Given the description of an element on the screen output the (x, y) to click on. 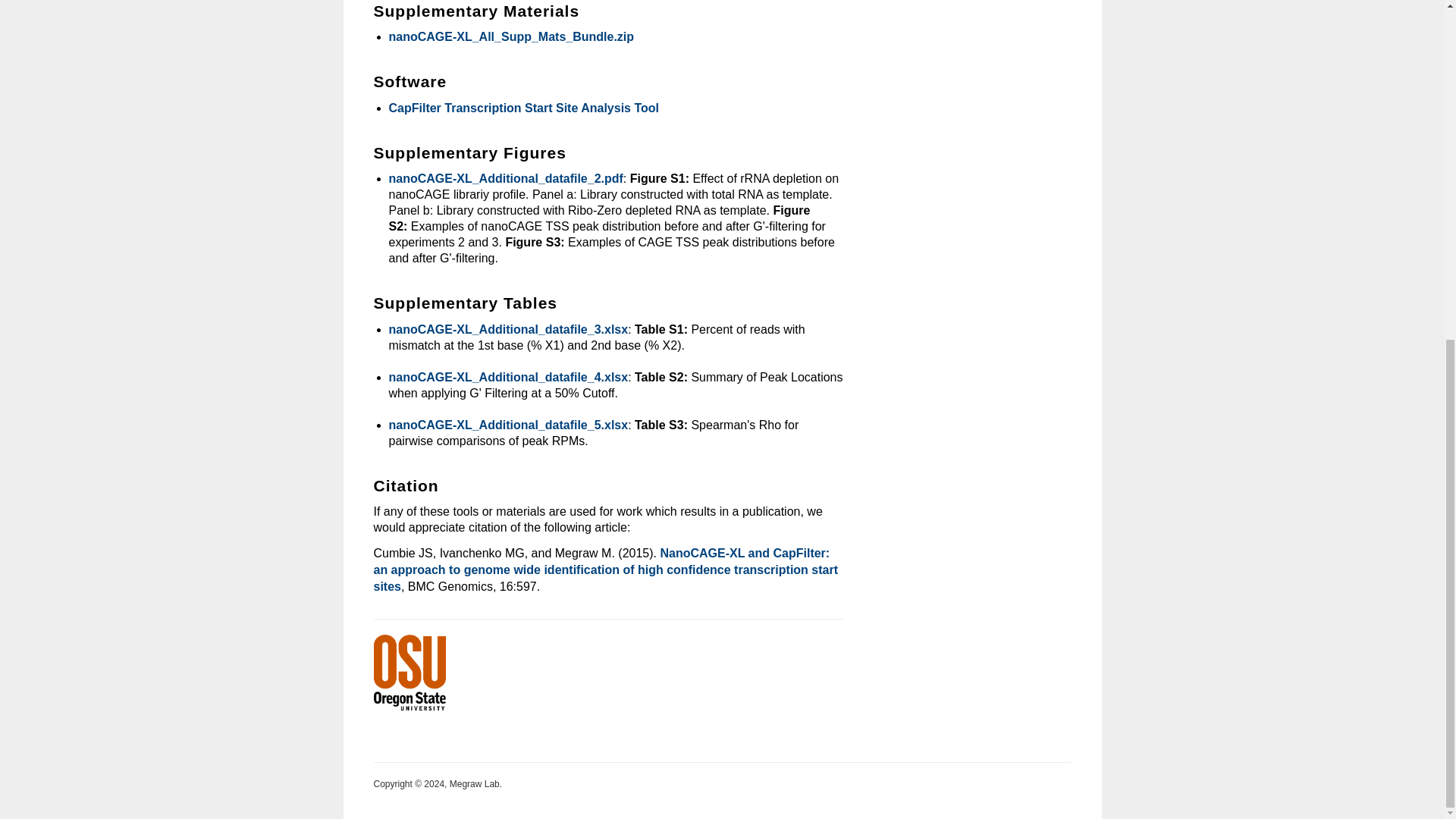
CapFilter Transcription Start Site Analysis Tool (523, 107)
